Given the description of an element on the screen output the (x, y) to click on. 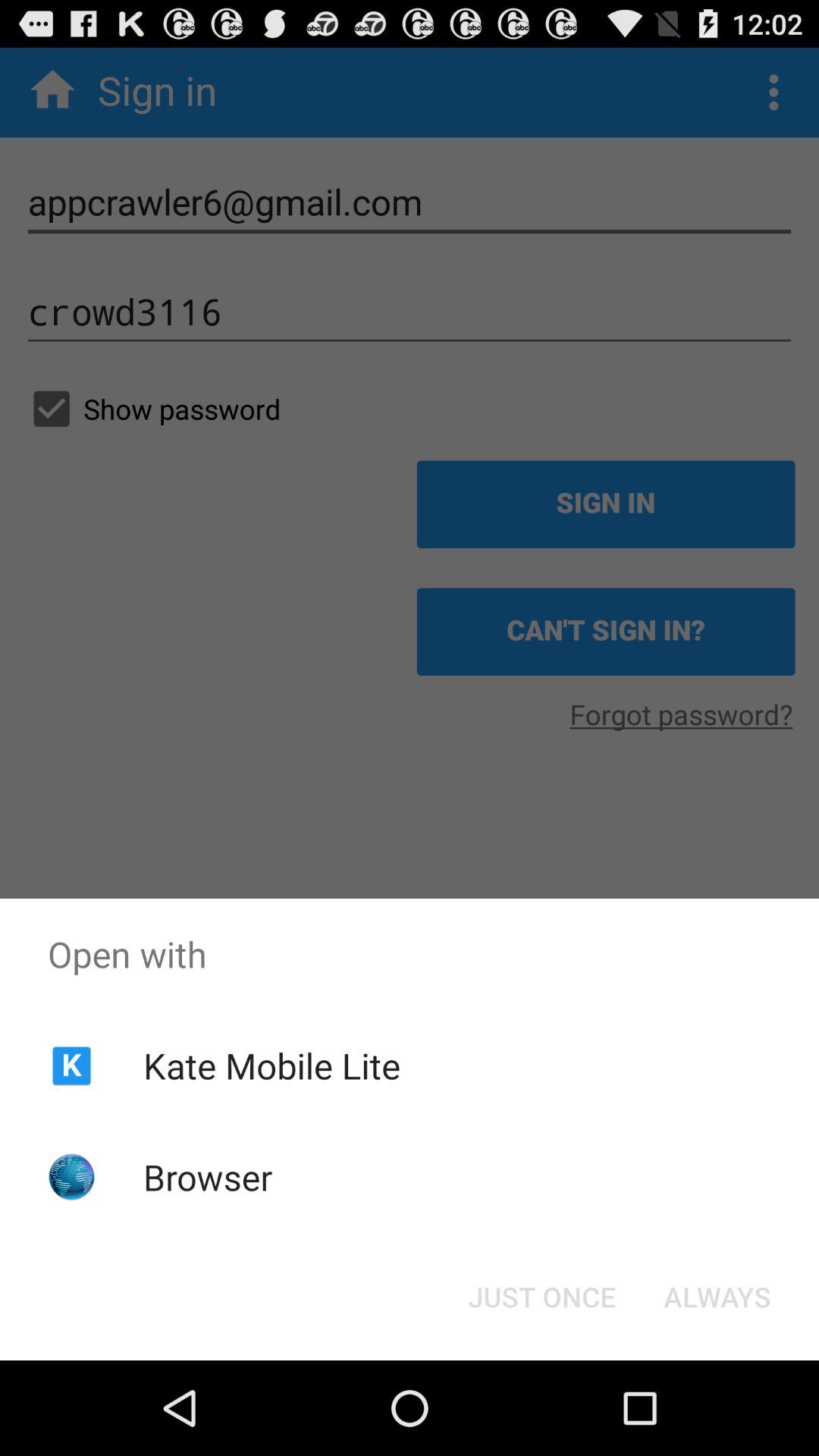
tap browser (207, 1176)
